Given the description of an element on the screen output the (x, y) to click on. 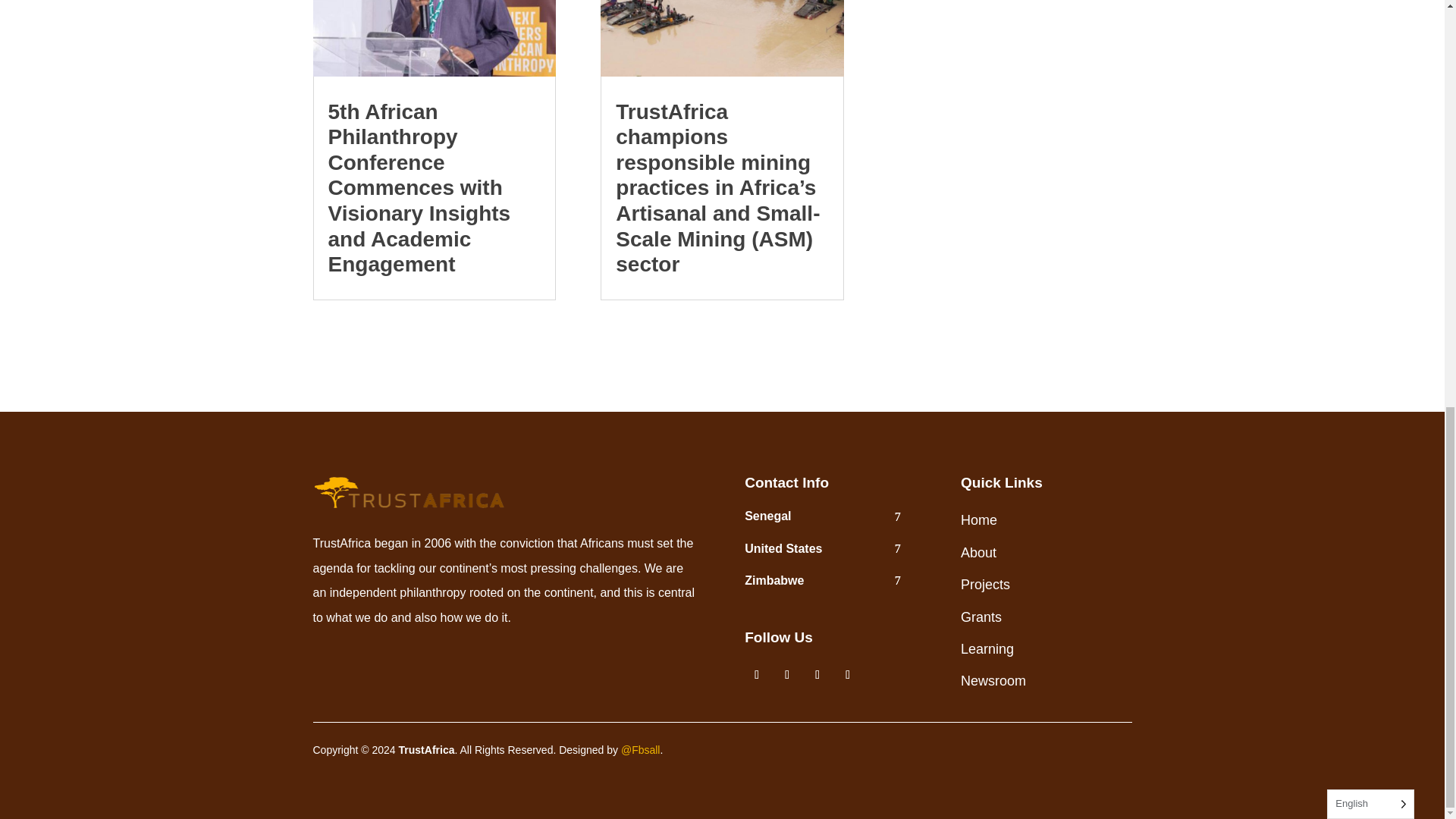
Follow on LinkedIn (817, 674)
Follow on X (786, 674)
Follow on Youtube (847, 674)
Follow on Facebook (756, 674)
